Given the description of an element on the screen output the (x, y) to click on. 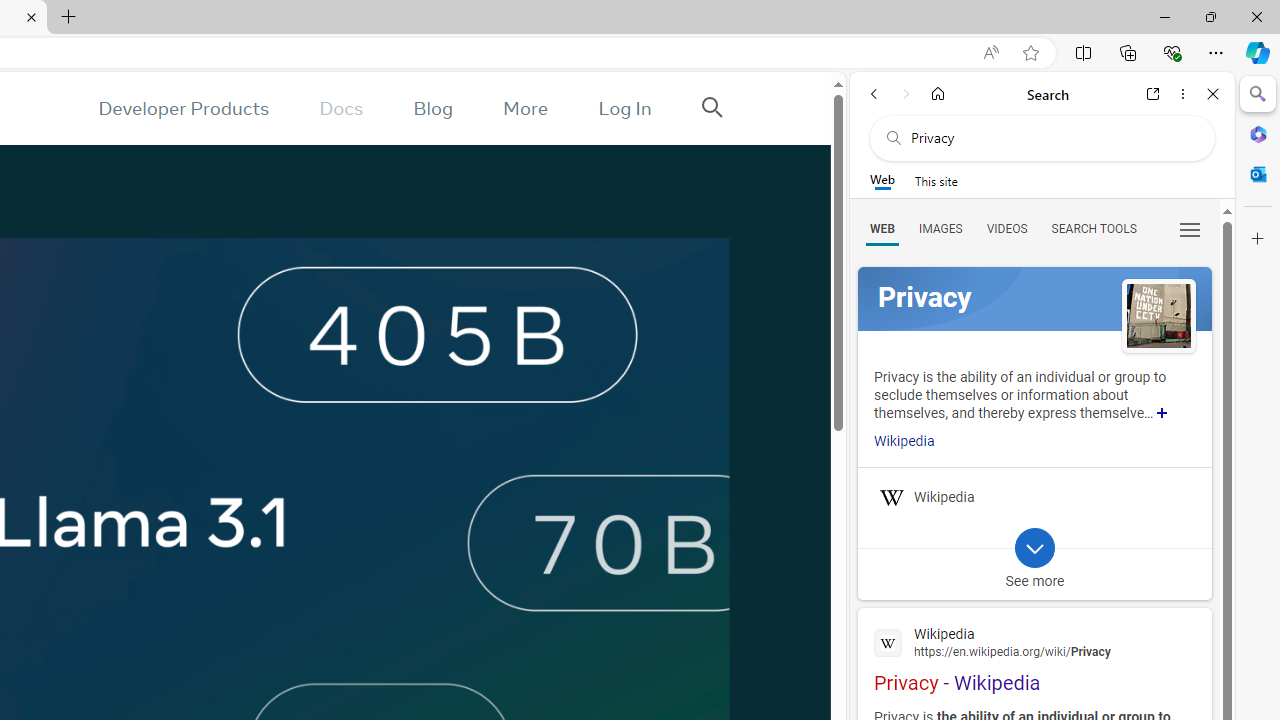
Class: b_exp_chevron_svg b_expmob_chev (1034, 547)
Global web icon (888, 642)
WEB   (882, 228)
